Given the description of an element on the screen output the (x, y) to click on. 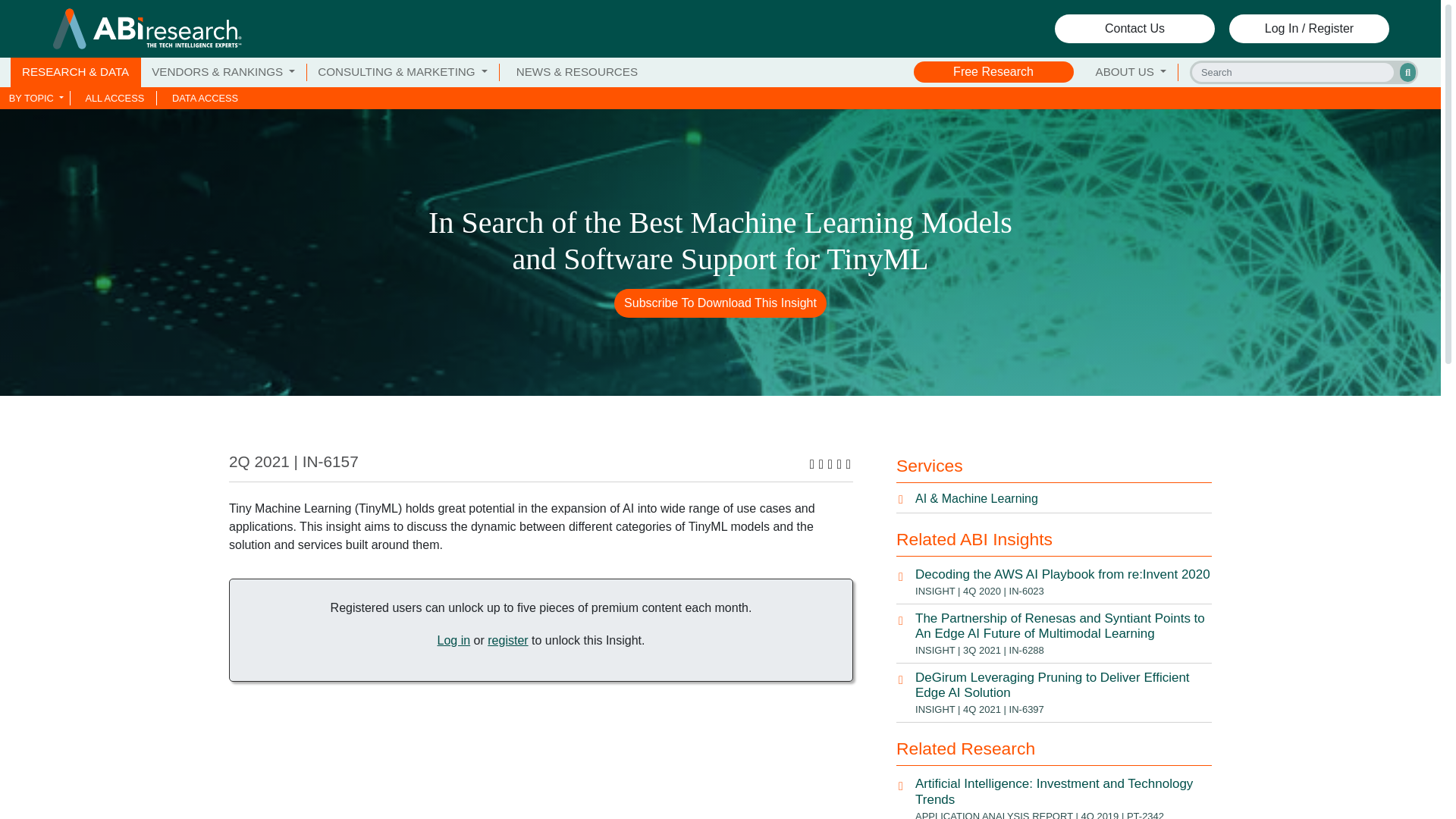
Contact Us (1134, 28)
